Given the description of an element on the screen output the (x, y) to click on. 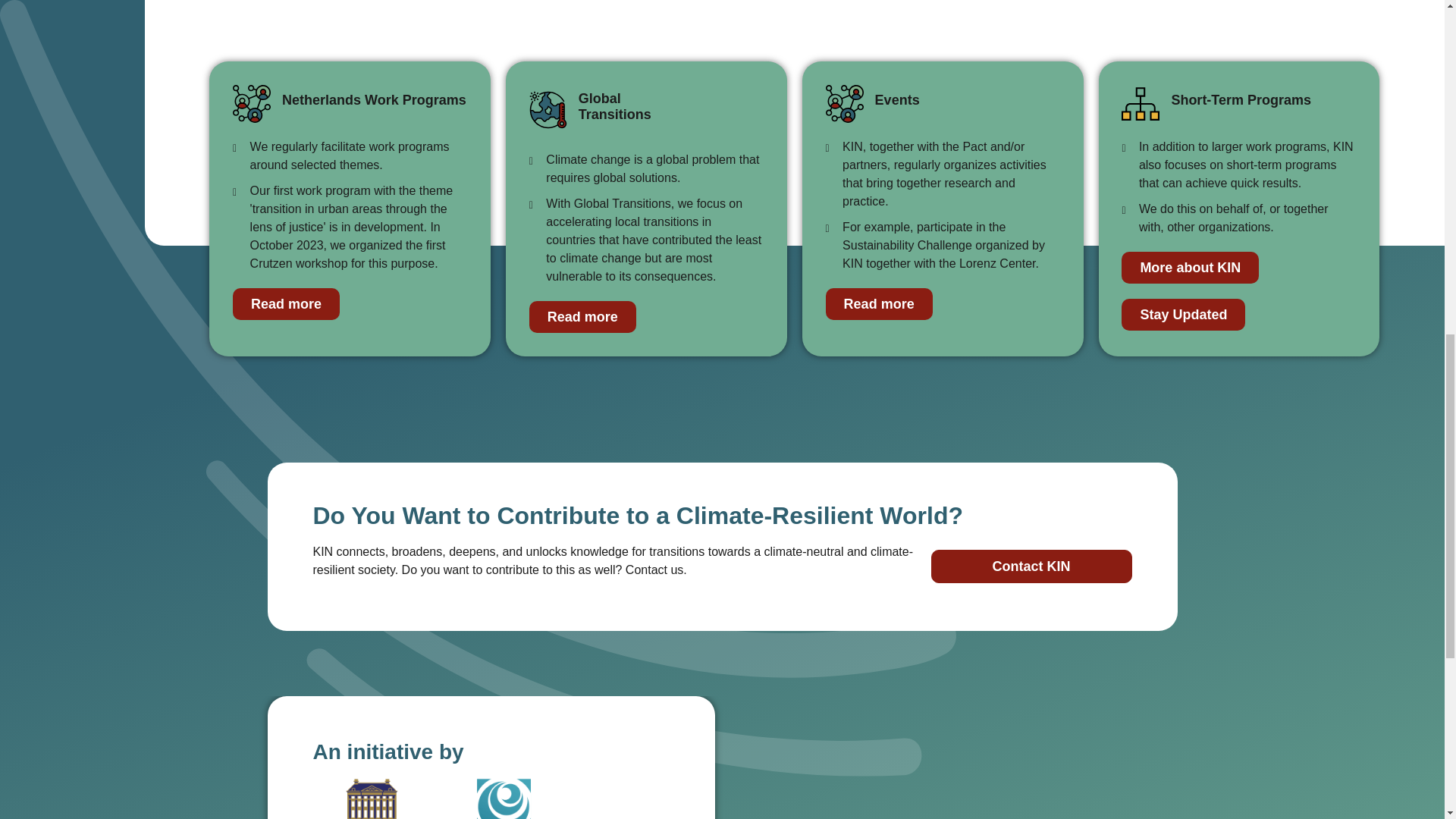
Read more (582, 316)
Read more (285, 304)
Stay Updated (1182, 314)
More about KIN (1190, 267)
Read more (879, 304)
Contact KIN (1031, 566)
